Given the description of an element on the screen output the (x, y) to click on. 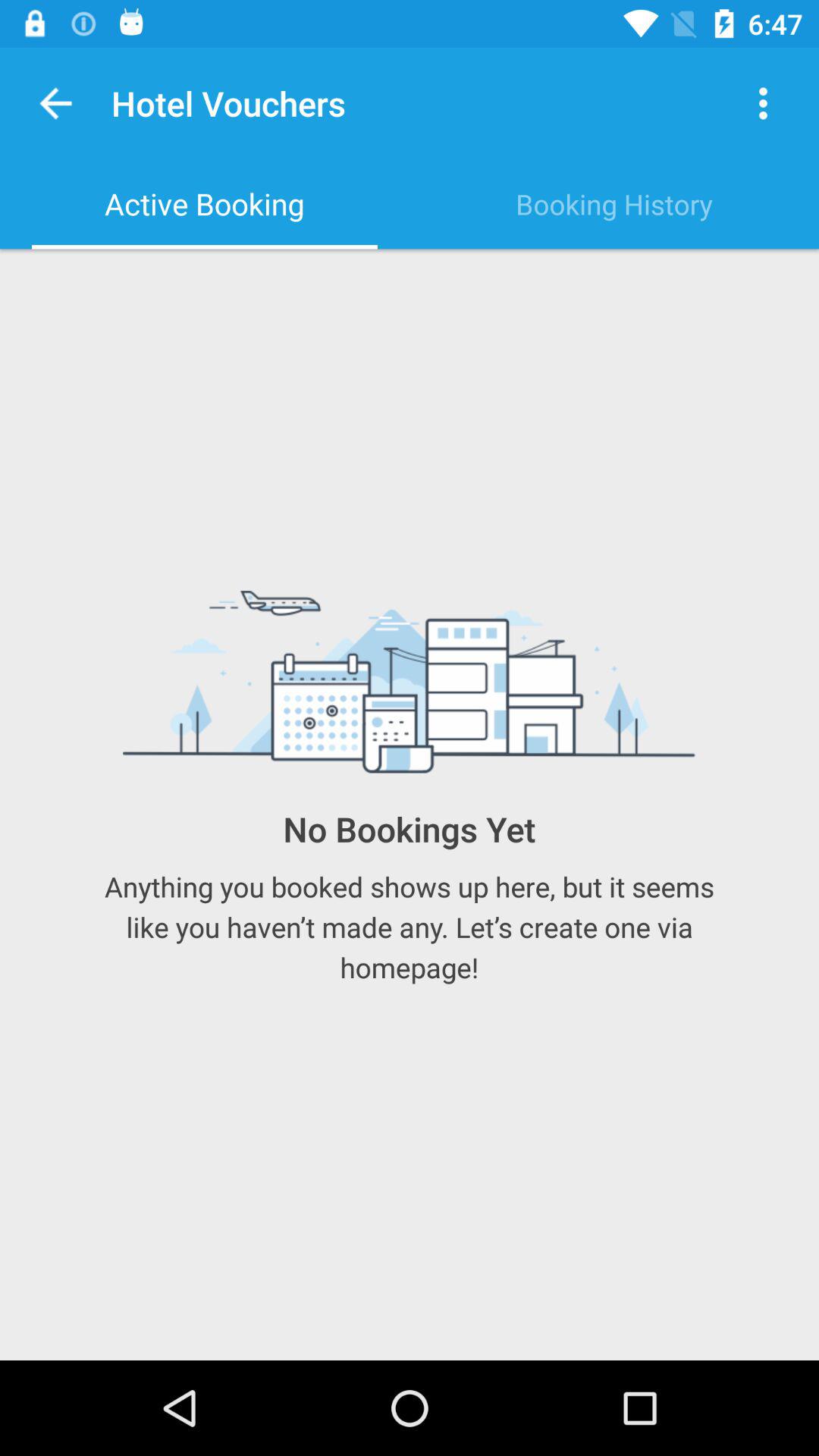
click booking history (614, 204)
